Given the description of an element on the screen output the (x, y) to click on. 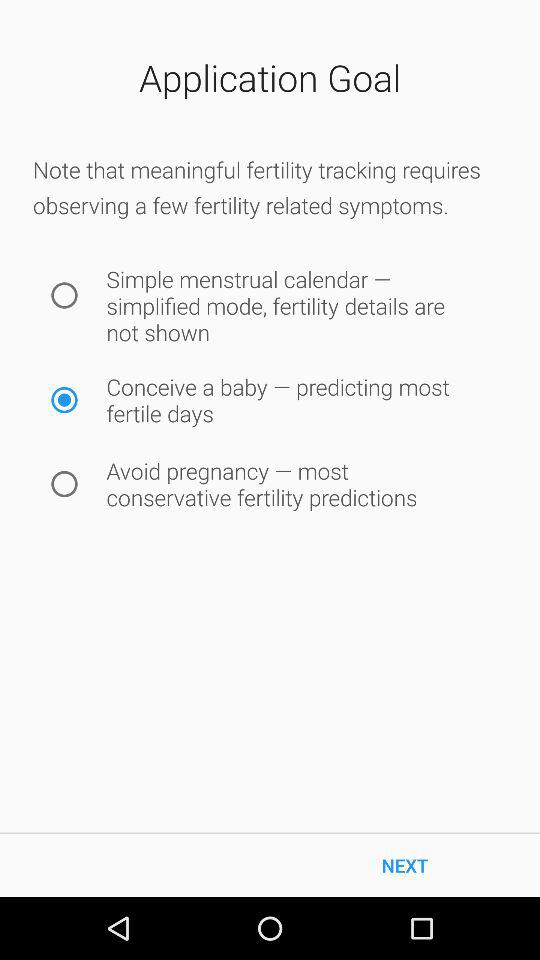
select the third option (64, 483)
